Given the description of an element on the screen output the (x, y) to click on. 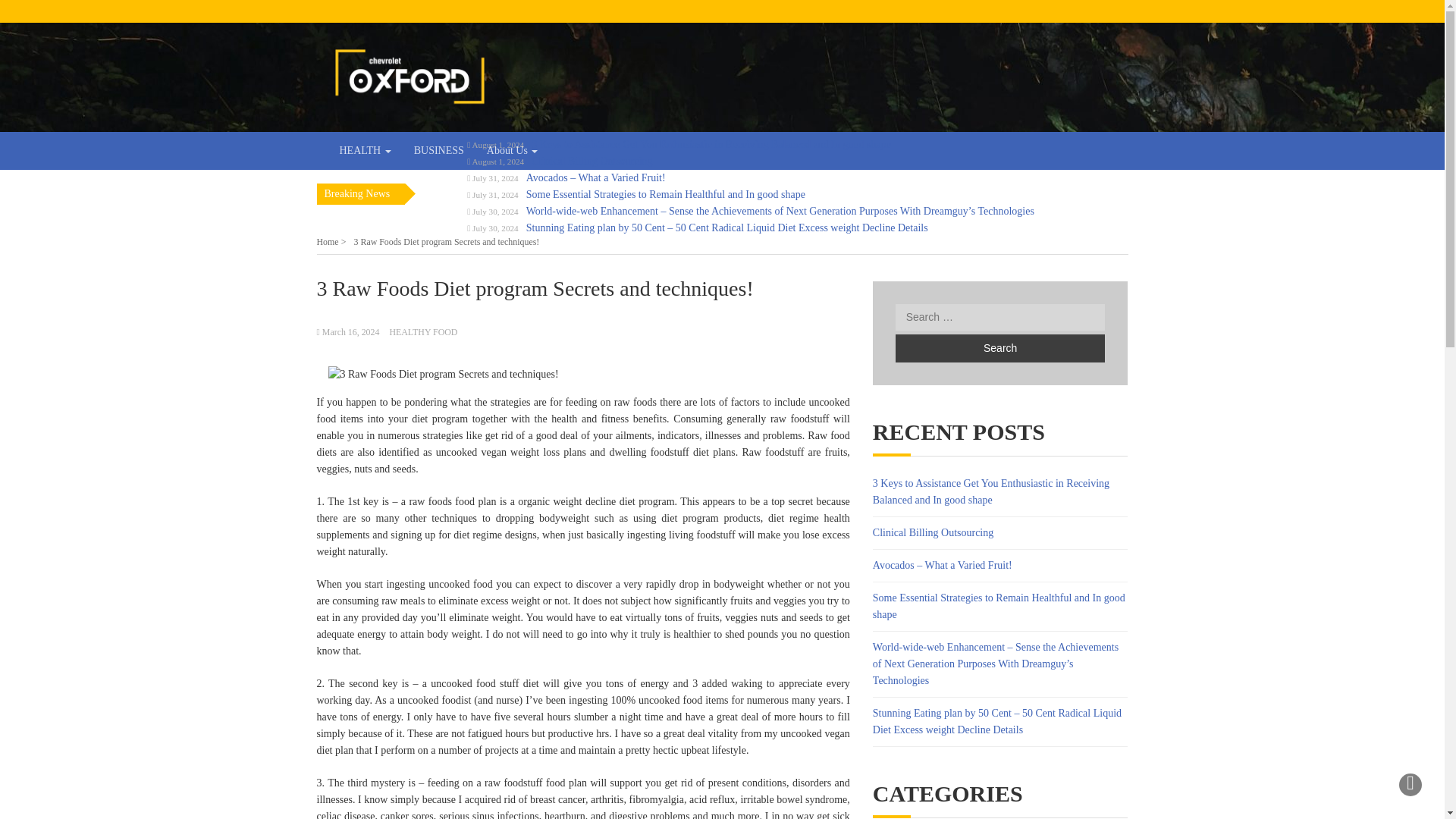
March 16, 2024 (350, 331)
About Us (513, 150)
Clinical Billing Outsourcing (591, 161)
HEALTHY FOOD (422, 331)
Search (1000, 348)
BUSINESS (439, 150)
HEALTH (364, 150)
HEALTH (364, 150)
Home (331, 241)
Clinical Billing Outsourcing (932, 532)
3 Raw Foods Diet program Secrets and techniques! (442, 374)
BUSINESS (439, 150)
